Given the description of an element on the screen output the (x, y) to click on. 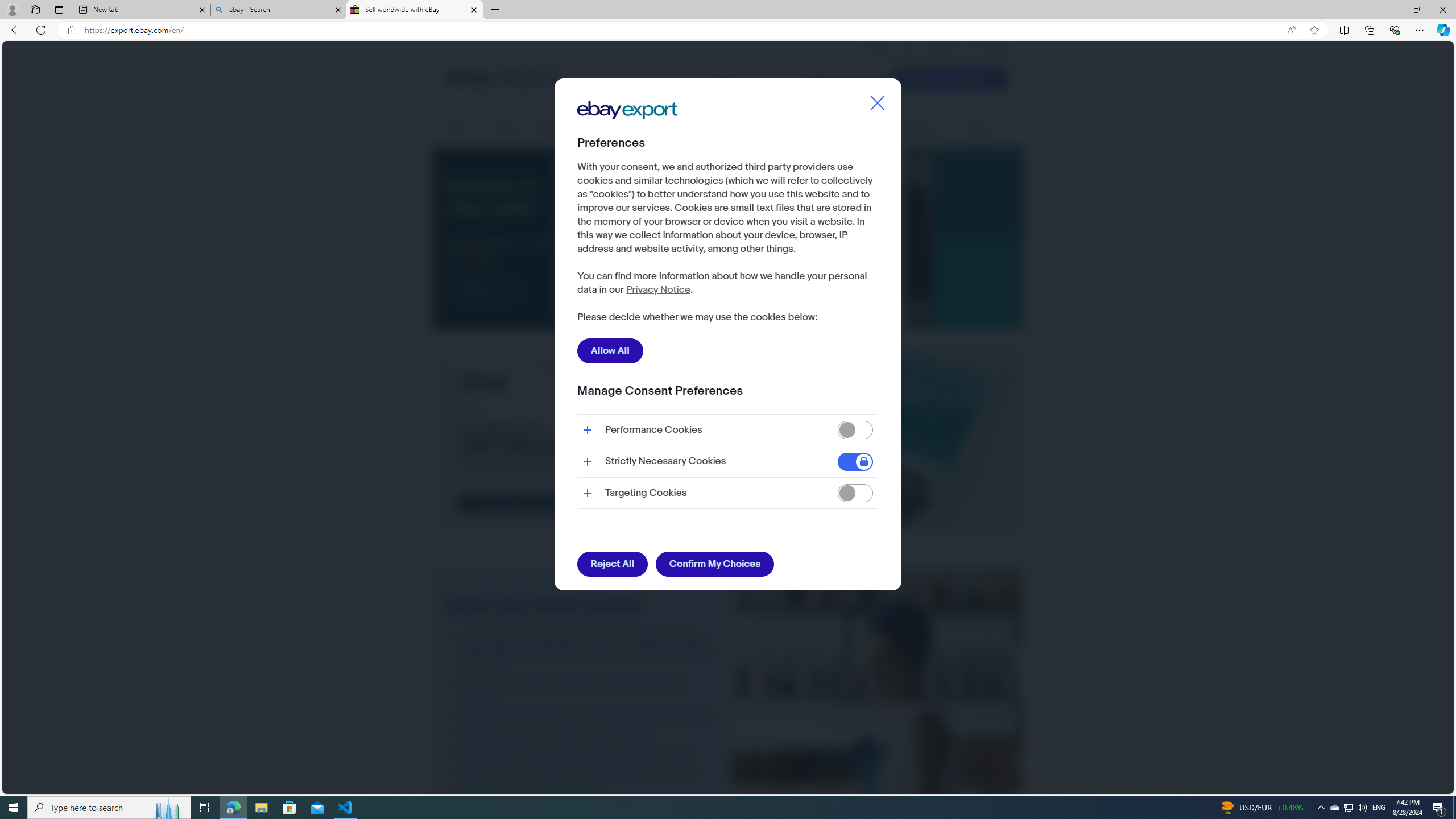
Manage listings (562, 128)
Class: header__logo (502, 79)
Allow All (609, 350)
Regulations & policies (807, 128)
Venmo is now accepted on eBay (582, 787)
Class: search-input__icon (823, 79)
Reject All (611, 564)
Accept All (845, 317)
Class: header__toplink-icon (1005, 54)
